Given the description of an element on the screen output the (x, y) to click on. 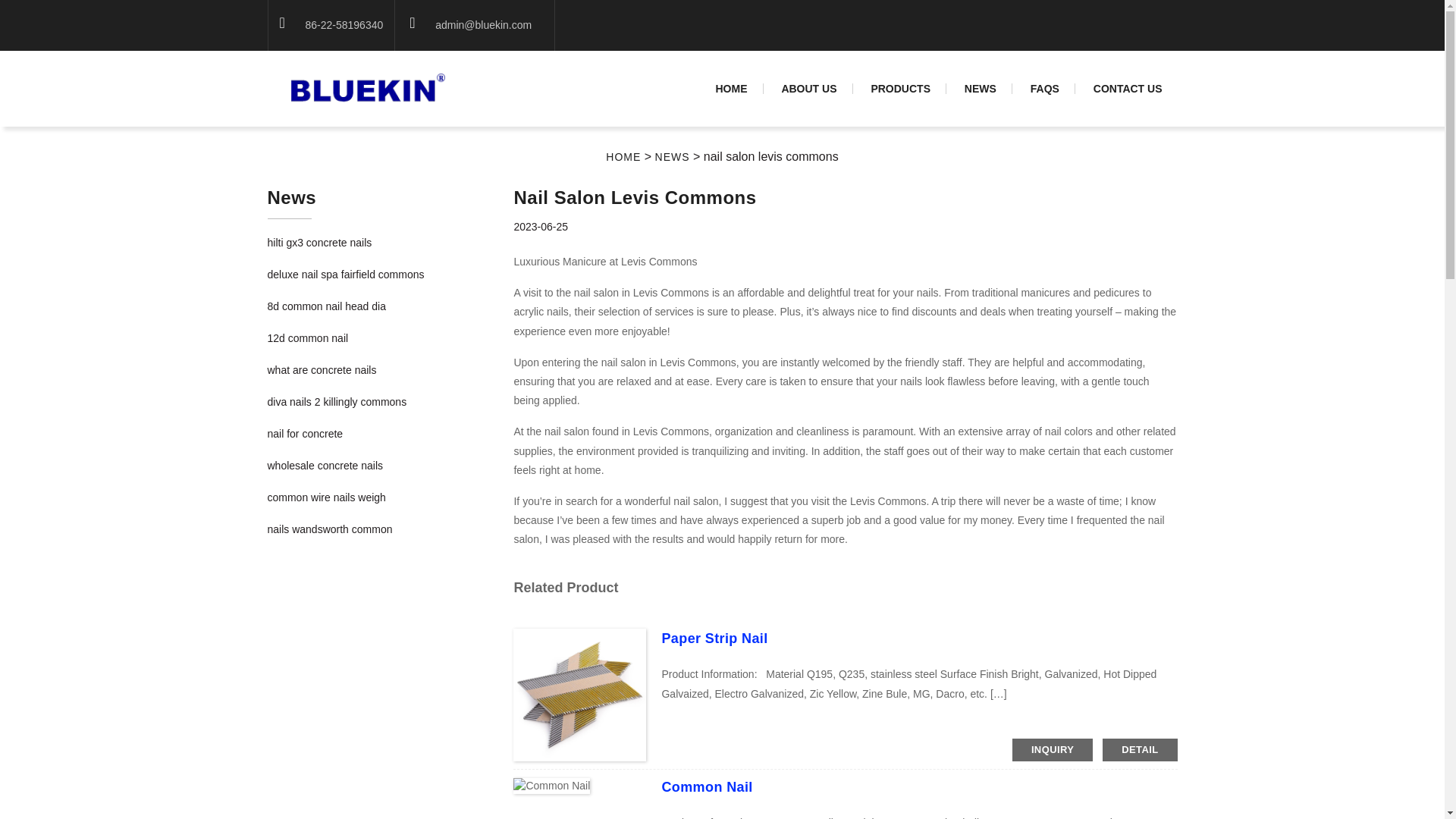
NEWS (980, 88)
12d common nail (306, 337)
12d common nail (306, 337)
NEWS (672, 156)
DETAIL (1139, 749)
HOME (622, 156)
wholesale concrete nails (324, 465)
HOME (731, 88)
diva nails 2 killingly commons (336, 401)
nails wandsworth common (328, 529)
86-22-58196340 (343, 24)
what are concrete nails (320, 369)
deluxe nail spa fairfield commons (344, 274)
nail for concrete (304, 433)
deluxe nail spa fairfield commons (344, 274)
